Given the description of an element on the screen output the (x, y) to click on. 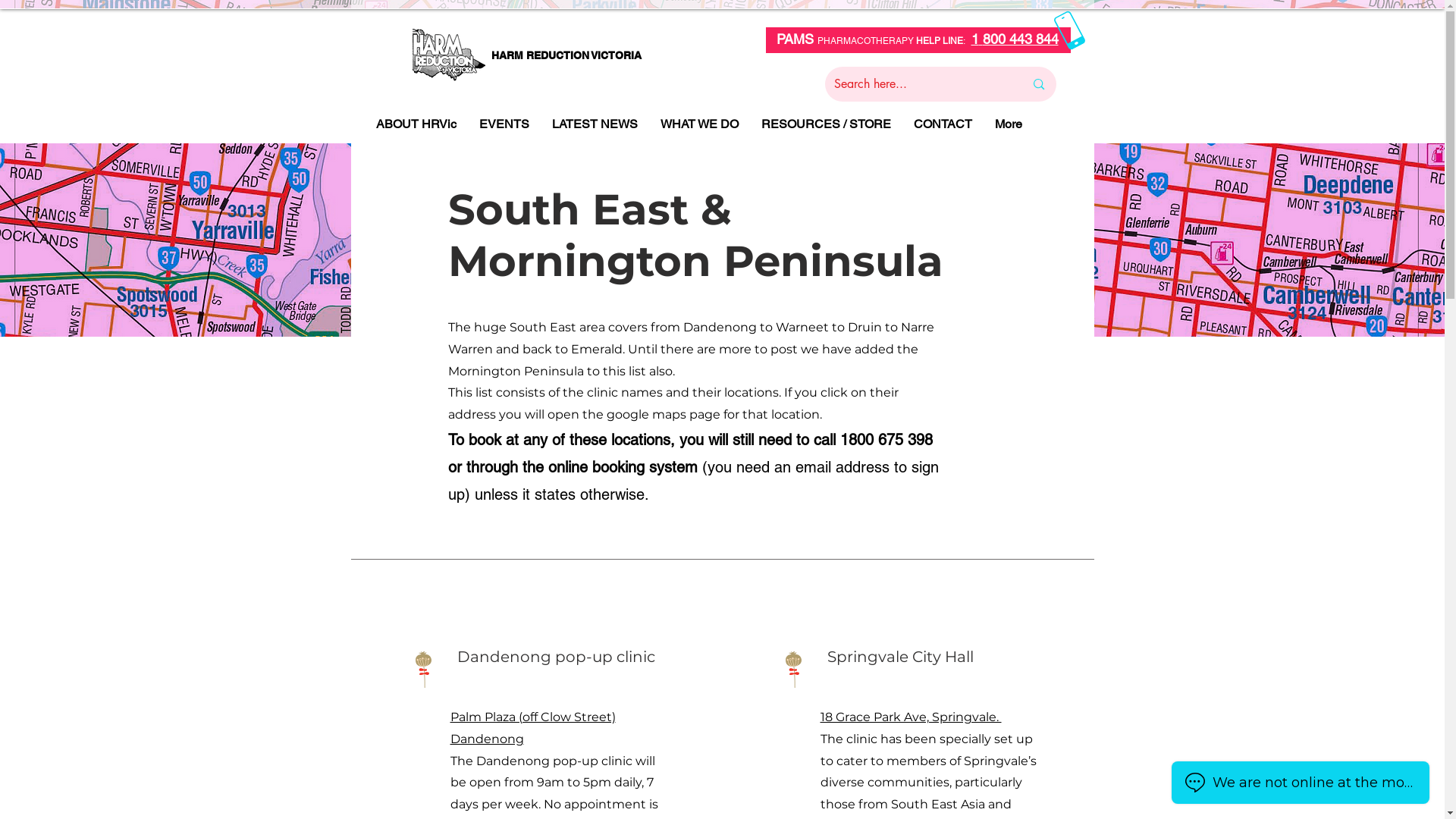
CONTACT Element type: text (942, 124)
LATEST NEWS Element type: text (593, 124)
EVENTS Element type: text (503, 124)
1 800 443 844 Element type: text (1013, 39)
18 Grace Park Ave, Springvale.  Element type: text (910, 716)
Palm Plaza (off Clow Street) Dandenong Element type: text (532, 727)
HARM REDUCTION VICTORIA Element type: text (566, 55)
WHAT WE DO Element type: text (699, 124)
ABOUT HRVic Element type: text (415, 124)
RESOURCES / STORE Element type: text (825, 124)
